Given the description of an element on the screen output the (x, y) to click on. 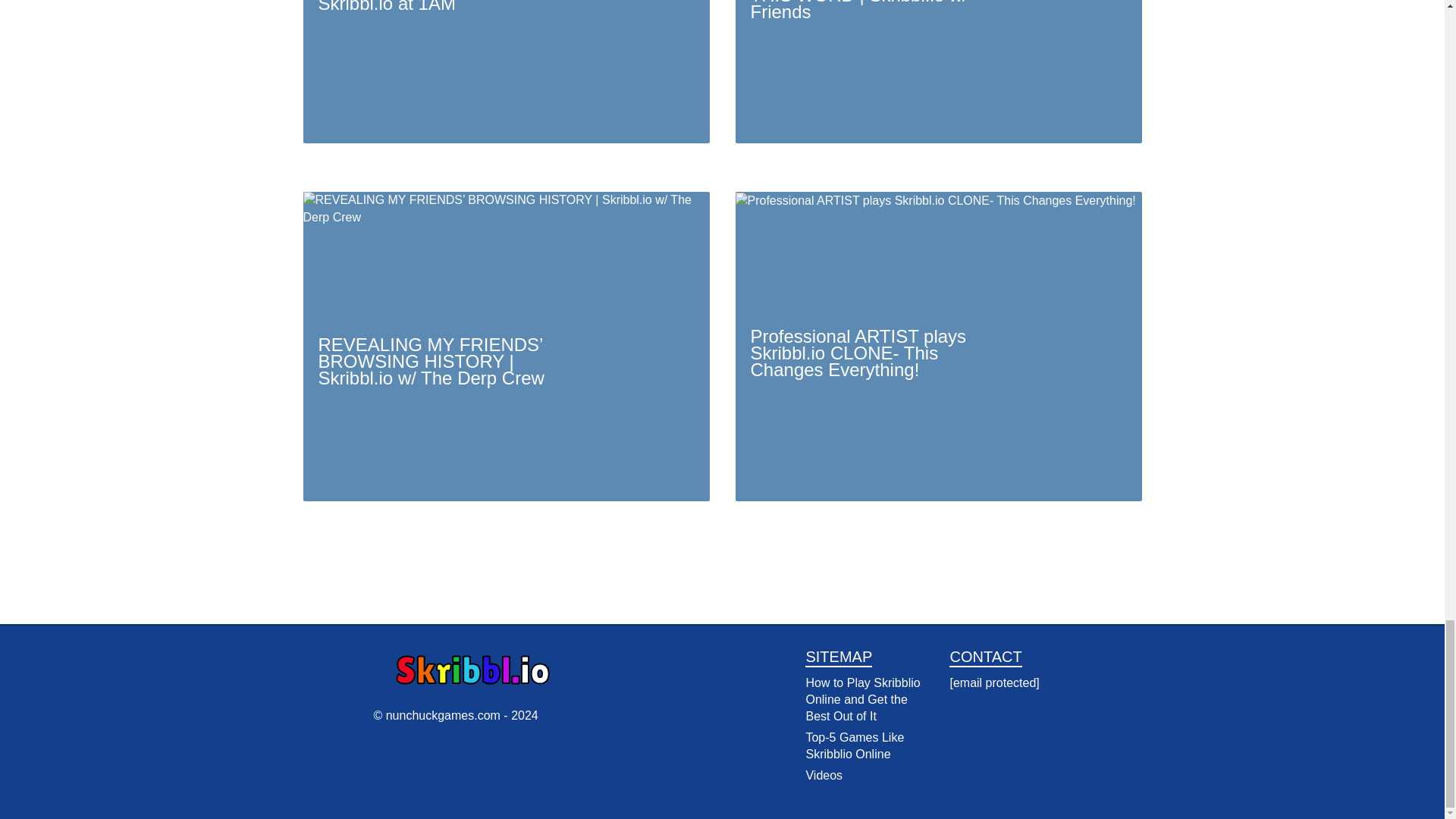
Top-5 Games Like Skribblio Online (854, 745)
Videos (824, 775)
How to Play Skribblio Online and Get the Best Out of It (862, 699)
